Given the description of an element on the screen output the (x, y) to click on. 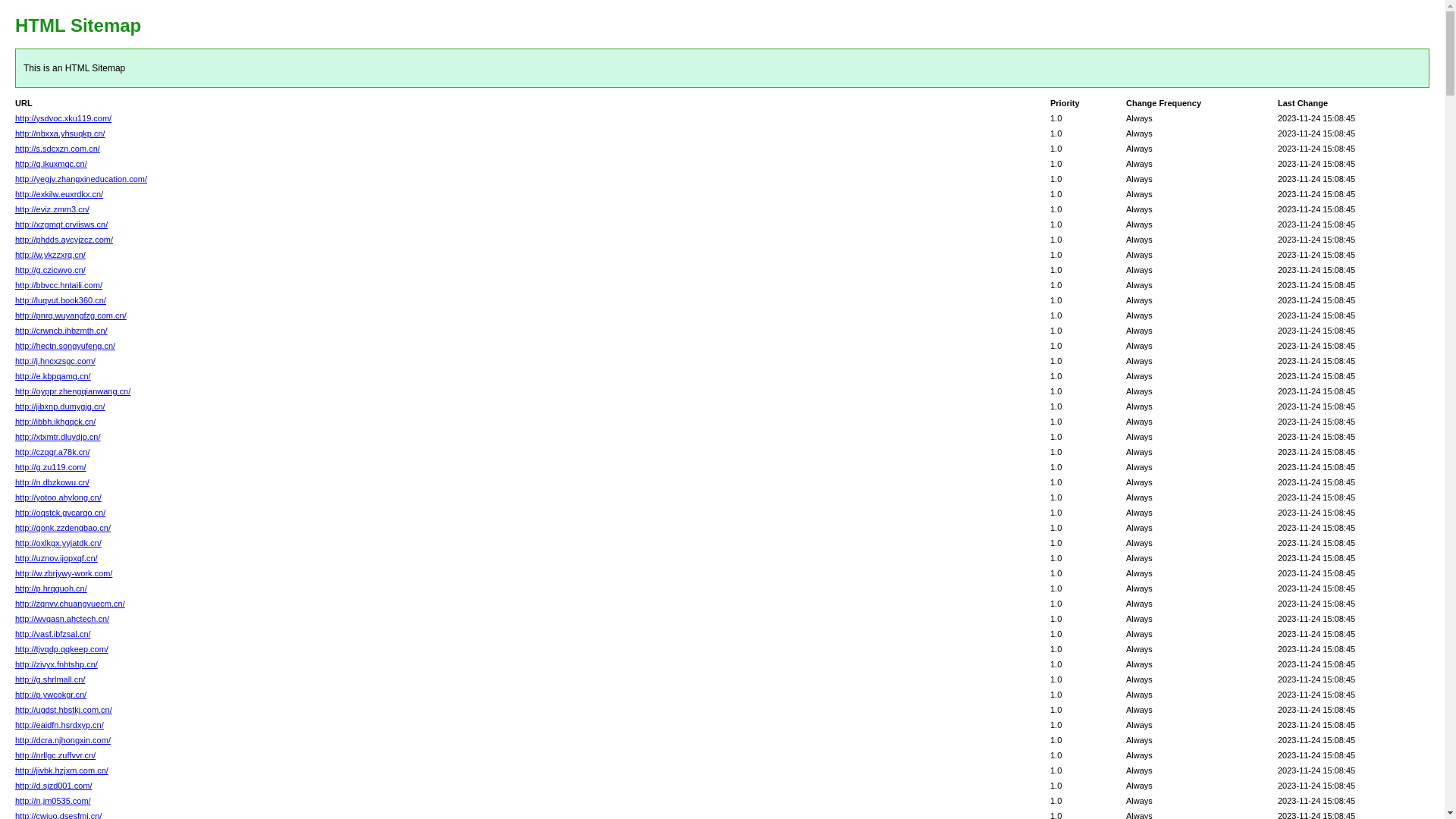
http://zivyx.fnhtshp.cn/ Element type: text (56, 663)
http://nbxxa.yhsuqkp.cn/ Element type: text (60, 133)
http://nrllgc.zuffvvr.cn/ Element type: text (55, 754)
http://n.dbzkowu.cn/ Element type: text (52, 481)
http://jivbk.hzjxm.com.cn/ Element type: text (61, 770)
http://qonk.zzdengbao.cn/ Element type: text (62, 527)
http://p.ywcokgr.cn/ Element type: text (50, 694)
http://w.zbrjywy-work.com/ Element type: text (63, 572)
http://g.zu119.com/ Element type: text (50, 466)
http://j.hncxzsgc.com/ Element type: text (55, 360)
http://q.ikuxmqc.cn/ Element type: text (51, 163)
http://e.kbpqamg.cn/ Element type: text (53, 375)
http://oyppr.zhengqianwang.cn/ Element type: text (72, 390)
http://xtxmtr.dluydjp.cn/ Element type: text (57, 436)
http://oxlkgx.yyjatdk.cn/ Element type: text (58, 542)
http://czqqr.a78k.cn/ Element type: text (52, 451)
http://jibxnp.dumygjg.cn/ Element type: text (60, 406)
http://luqvut.book360.cn/ Element type: text (60, 299)
http://yegjv.zhangxineducation.com/ Element type: text (81, 178)
http://zqnvv.chuangyuecm.cn/ Element type: text (70, 603)
http://phdds.aycyjzcz.com/ Element type: text (63, 239)
http://bbvcc.hntaili.com/ Element type: text (58, 284)
http://dcra.njhongxin.com/ Element type: text (62, 739)
http://xzgmqt.crviisws.cn/ Element type: text (61, 224)
http://g.shrlmall.cn/ Element type: text (49, 679)
http://s.sdcxzn.com.cn/ Element type: text (57, 148)
http://eviz.zmm3.cn/ Element type: text (52, 208)
http://vasf.ibfzsal.cn/ Element type: text (53, 633)
http://ibbh.ikhgqck.cn/ Element type: text (55, 421)
http://yotoo.ahylong.cn/ Element type: text (58, 497)
http://pnrq.wuyangfzg.com.cn/ Element type: text (70, 315)
http://g.czicwvo.cn/ Element type: text (50, 269)
http://ugdst.hbstkj.com.cn/ Element type: text (63, 709)
http://tjvqdp.qqkeep.com/ Element type: text (61, 648)
http://p.hrqquoh.cn/ Element type: text (51, 588)
http://n.jm0535.com/ Element type: text (53, 800)
http://exkilw.euxrdkx.cn/ Element type: text (59, 193)
http://ysdvoc.xku119.com/ Element type: text (63, 117)
http://oqstck.gvcarqo.cn/ Element type: text (60, 512)
http://w.ykzzxrq.cn/ Element type: text (50, 254)
http://crwncb.ihbzmth.cn/ Element type: text (61, 330)
http://hectn.songyufeng.cn/ Element type: text (65, 345)
http://uznov.ijopxqf.cn/ Element type: text (56, 557)
http://eaidfn.hsrdxyp.cn/ Element type: text (59, 724)
http://d.sjzd001.com/ Element type: text (53, 785)
http://wvqasn.ahctech.cn/ Element type: text (62, 618)
